Given the description of an element on the screen output the (x, y) to click on. 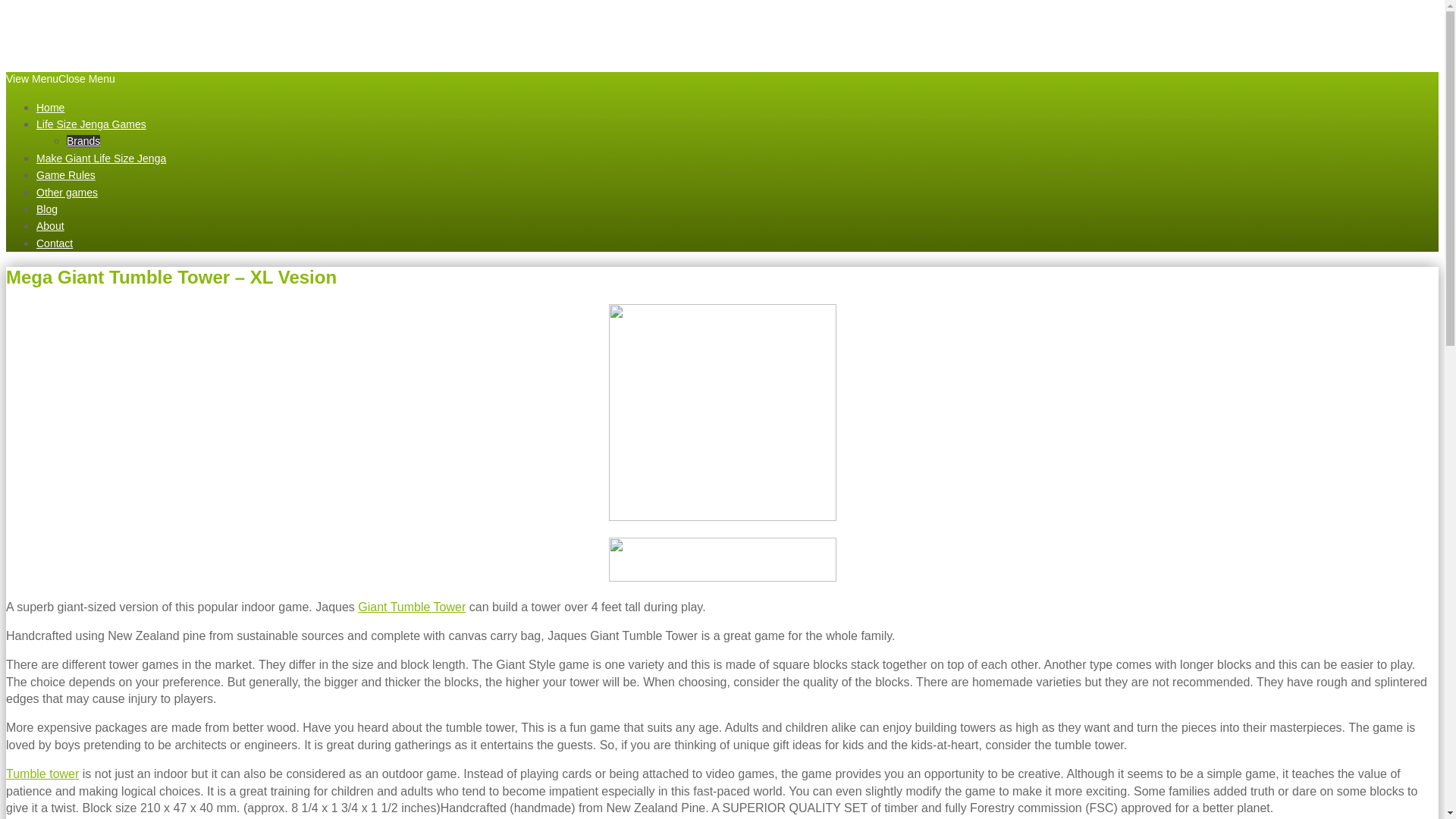
Make Giant Life Size Jenga (100, 158)
Home (50, 107)
Game Rules (66, 174)
Life Size Jenga (117, 24)
Blog (47, 209)
Contact (54, 243)
Other games (66, 192)
Tumble tower (41, 773)
Brands (83, 141)
Life Size Jenga Games (91, 123)
About (50, 225)
Giant Tumble Tower (411, 606)
